Given the description of an element on the screen output the (x, y) to click on. 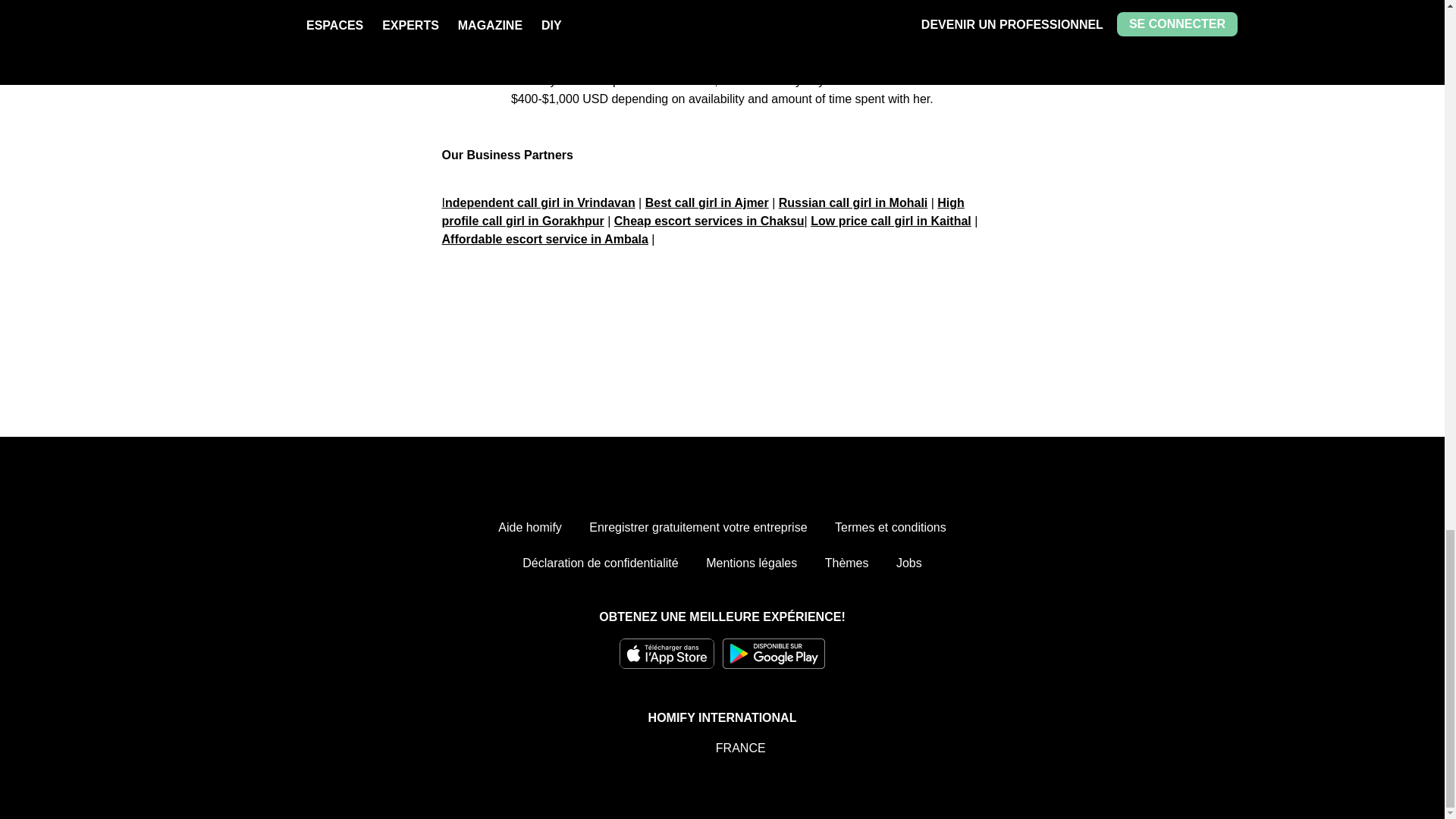
Aide homify (529, 527)
Enregistrer gratuitement votre entreprise (697, 527)
Termes et conditions (890, 527)
Jobs (908, 563)
